Given the description of an element on the screen output the (x, y) to click on. 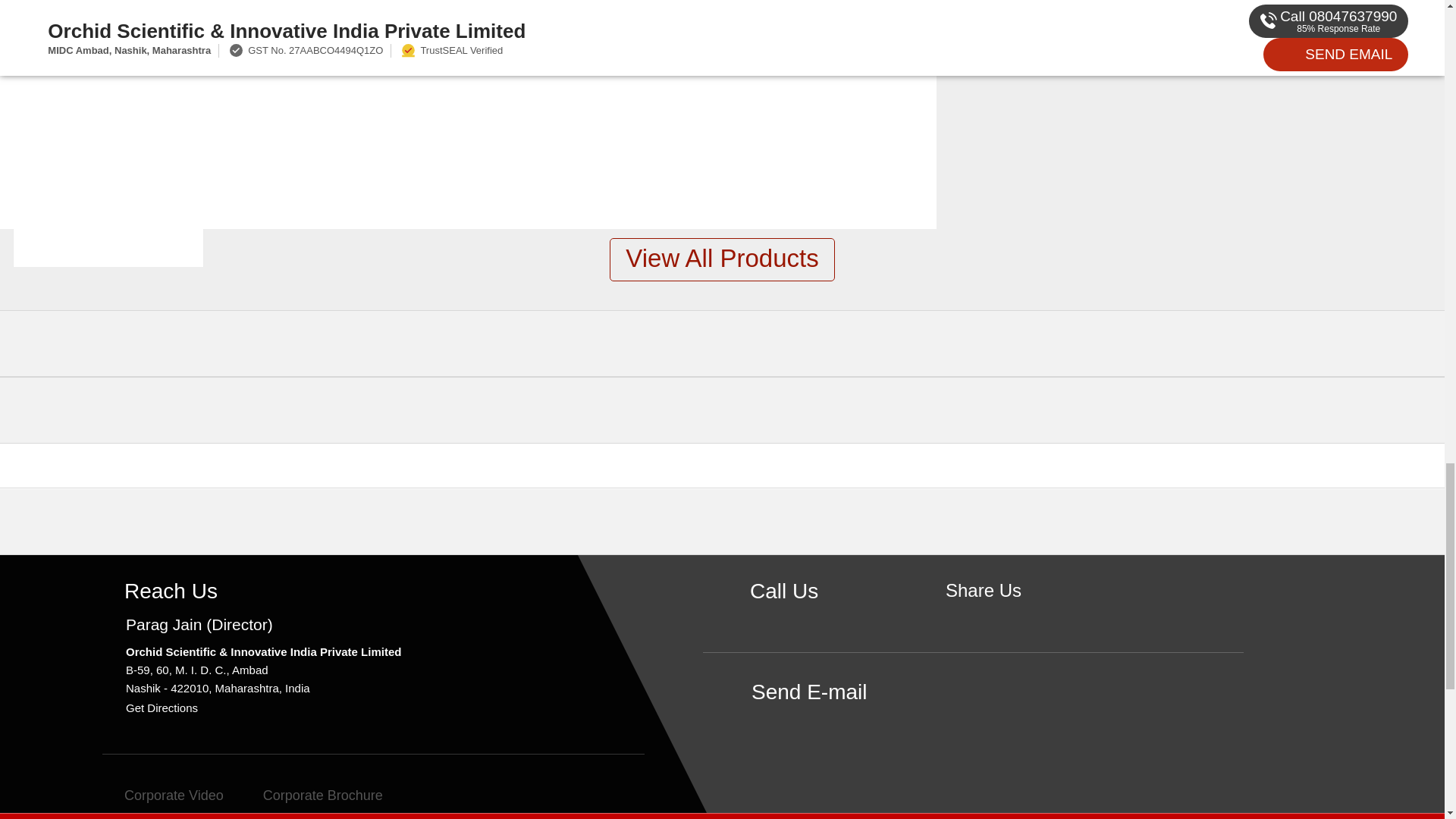
Metabolic Cages For Small Rodents (108, 67)
Get Directions (161, 707)
View All Products (722, 259)
